Given the description of an element on the screen output the (x, y) to click on. 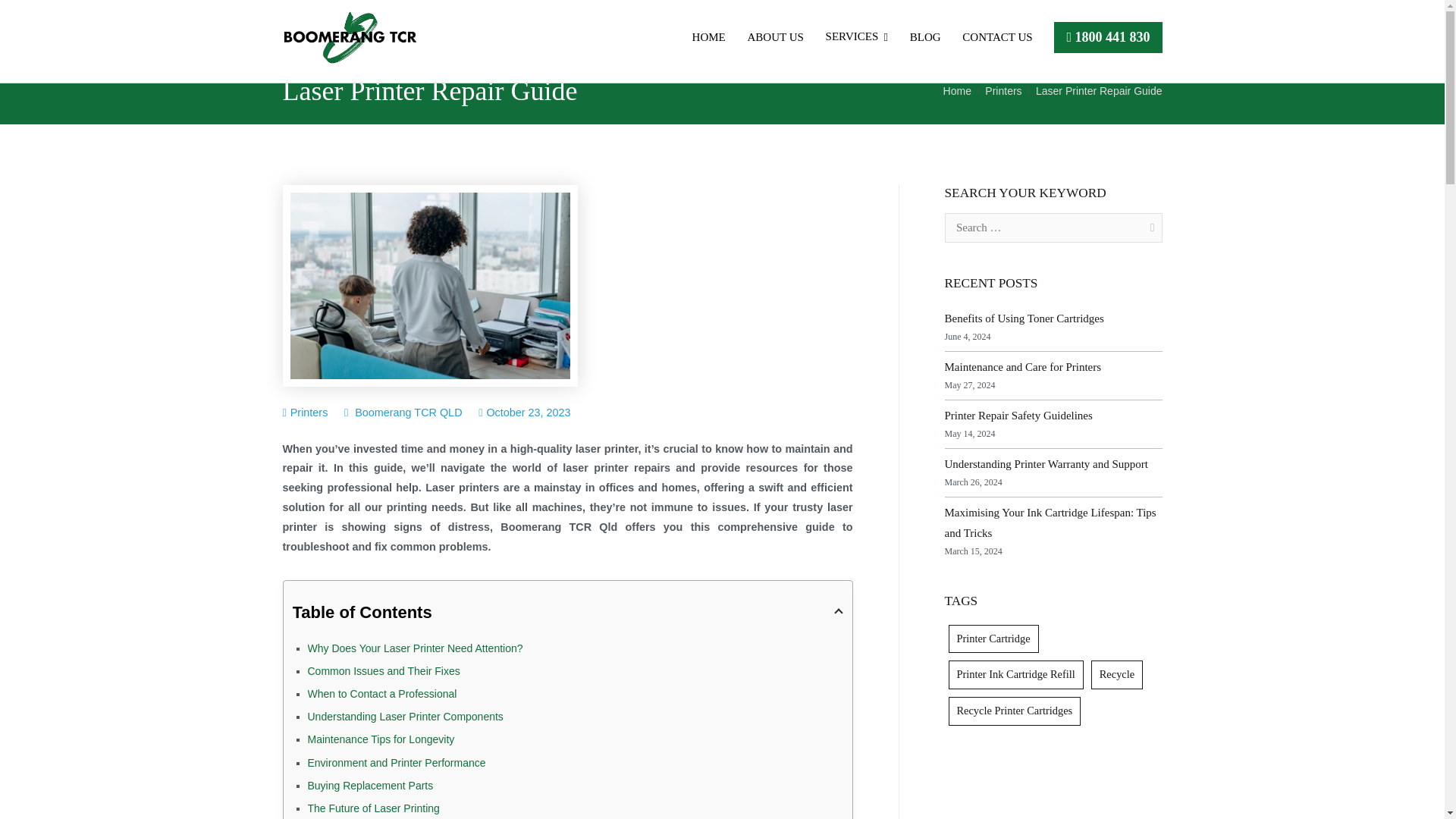
Maintenance Tips for Longevity (575, 737)
Printers (309, 412)
HOME (709, 37)
Why Does Your Laser Printer Need Attention? (575, 646)
Understanding Laser Printer Components (575, 714)
Boomerang TCR QLD (408, 412)
Environment and Printer Performance (575, 761)
1800 441 830 (1107, 37)
When to Contact a Professional (575, 691)
Home (957, 91)
Printers (1003, 91)
The Future of Laser Printing (575, 806)
BLOG (925, 37)
